Given the description of an element on the screen output the (x, y) to click on. 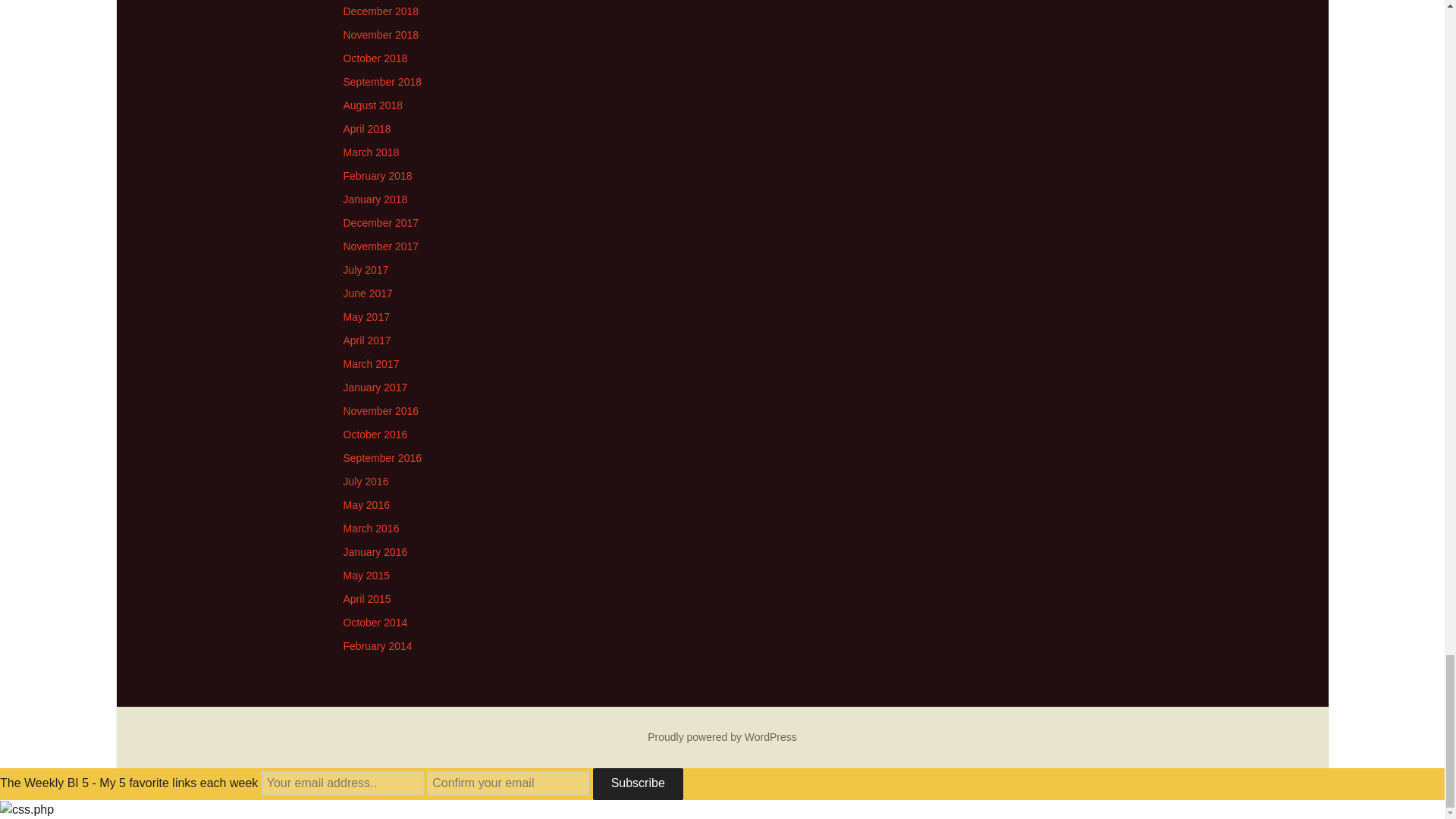
Subscribe (637, 784)
